Given the description of an element on the screen output the (x, y) to click on. 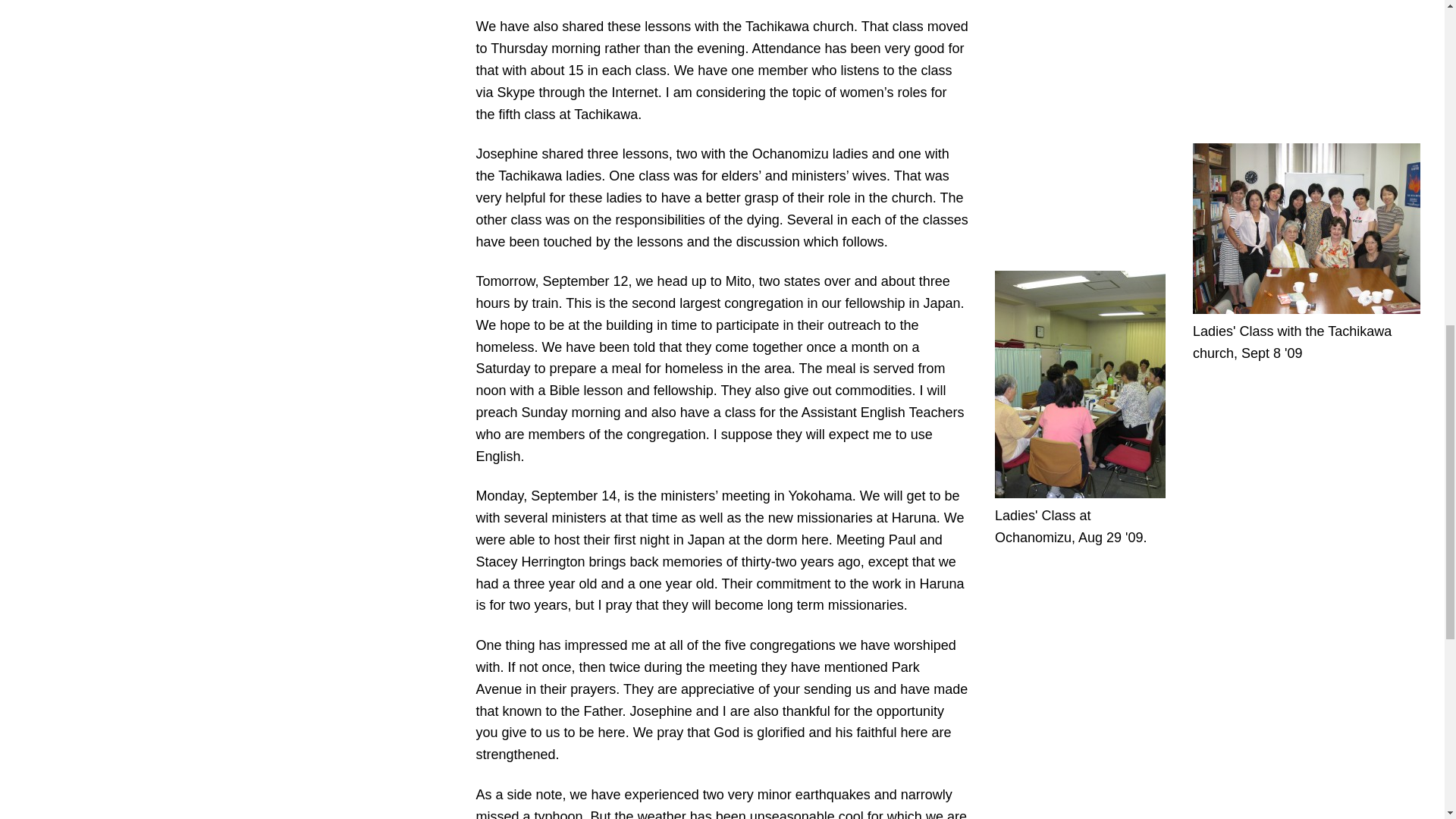
Convert this amount (576, 70)
